Given the description of an element on the screen output the (x, y) to click on. 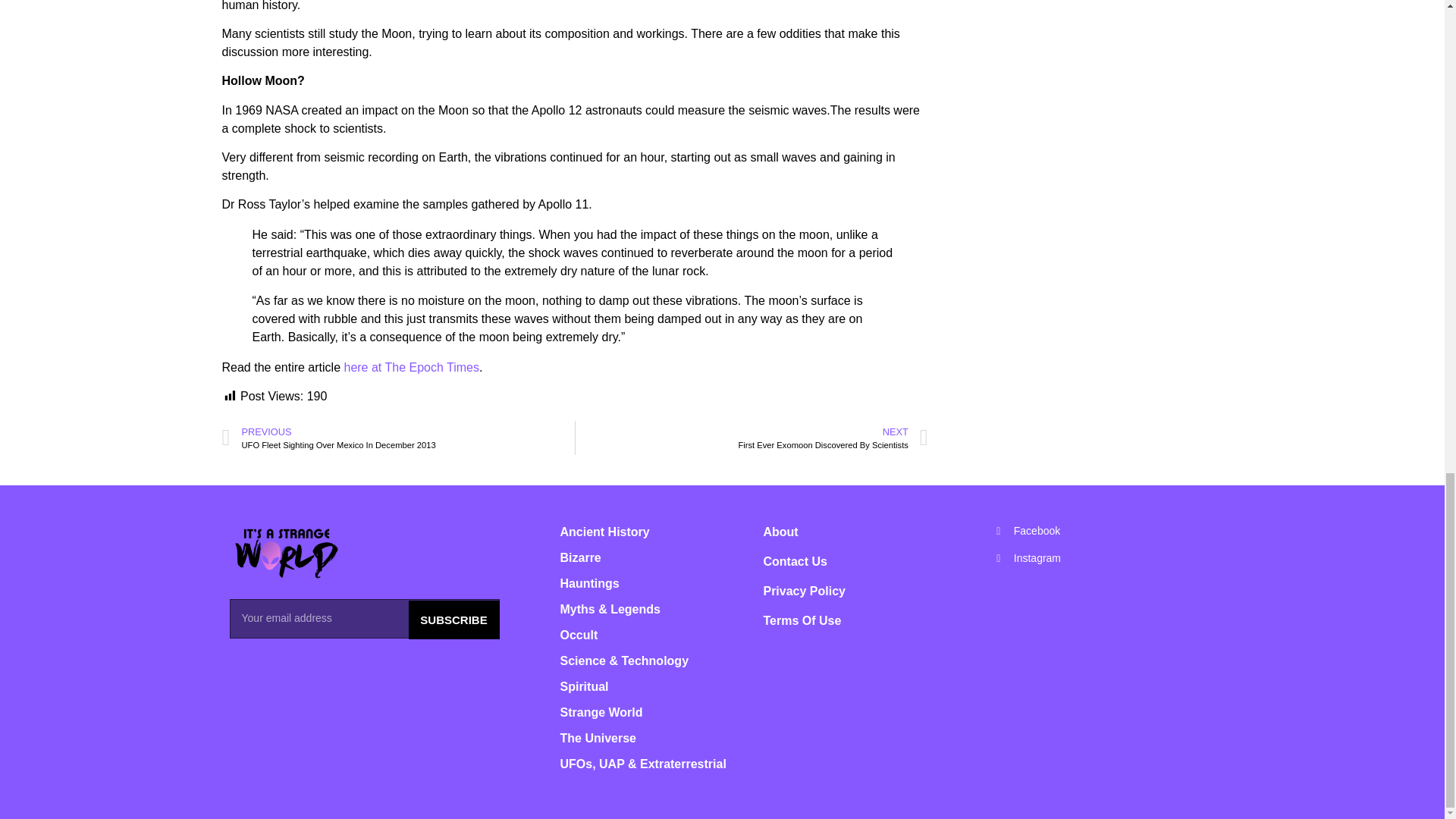
Is Our Moon Hollow? (411, 367)
here at The Epoch Times (411, 367)
